Given the description of an element on the screen output the (x, y) to click on. 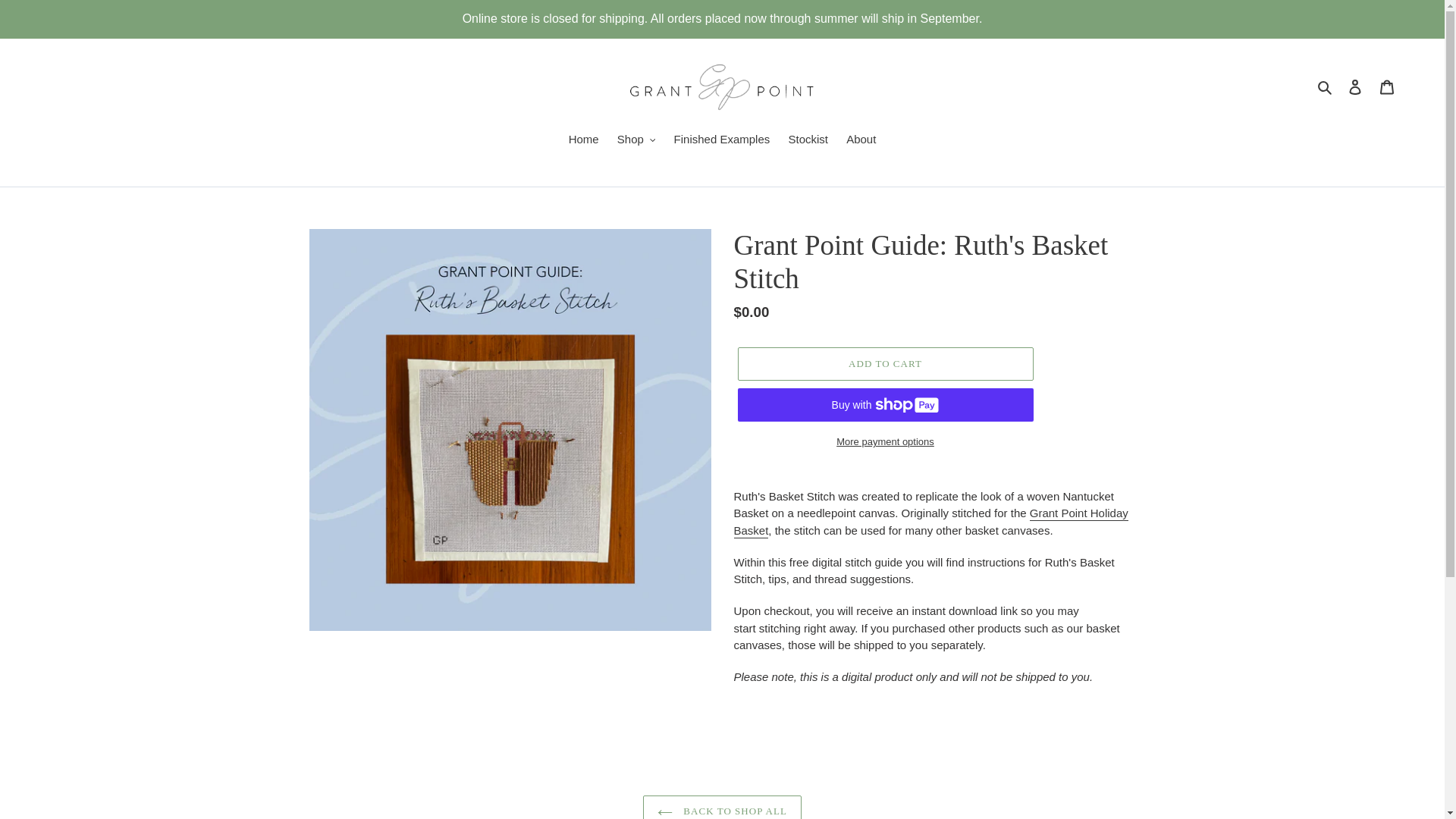
Stockist (807, 140)
Cart (1387, 86)
Finished Examples (721, 140)
ADD TO CART (884, 363)
Grant Point Holiday Basket (930, 522)
Home (583, 140)
Shop (636, 140)
BACK TO SHOP ALL (722, 807)
Search (1326, 86)
